Given the description of an element on the screen output the (x, y) to click on. 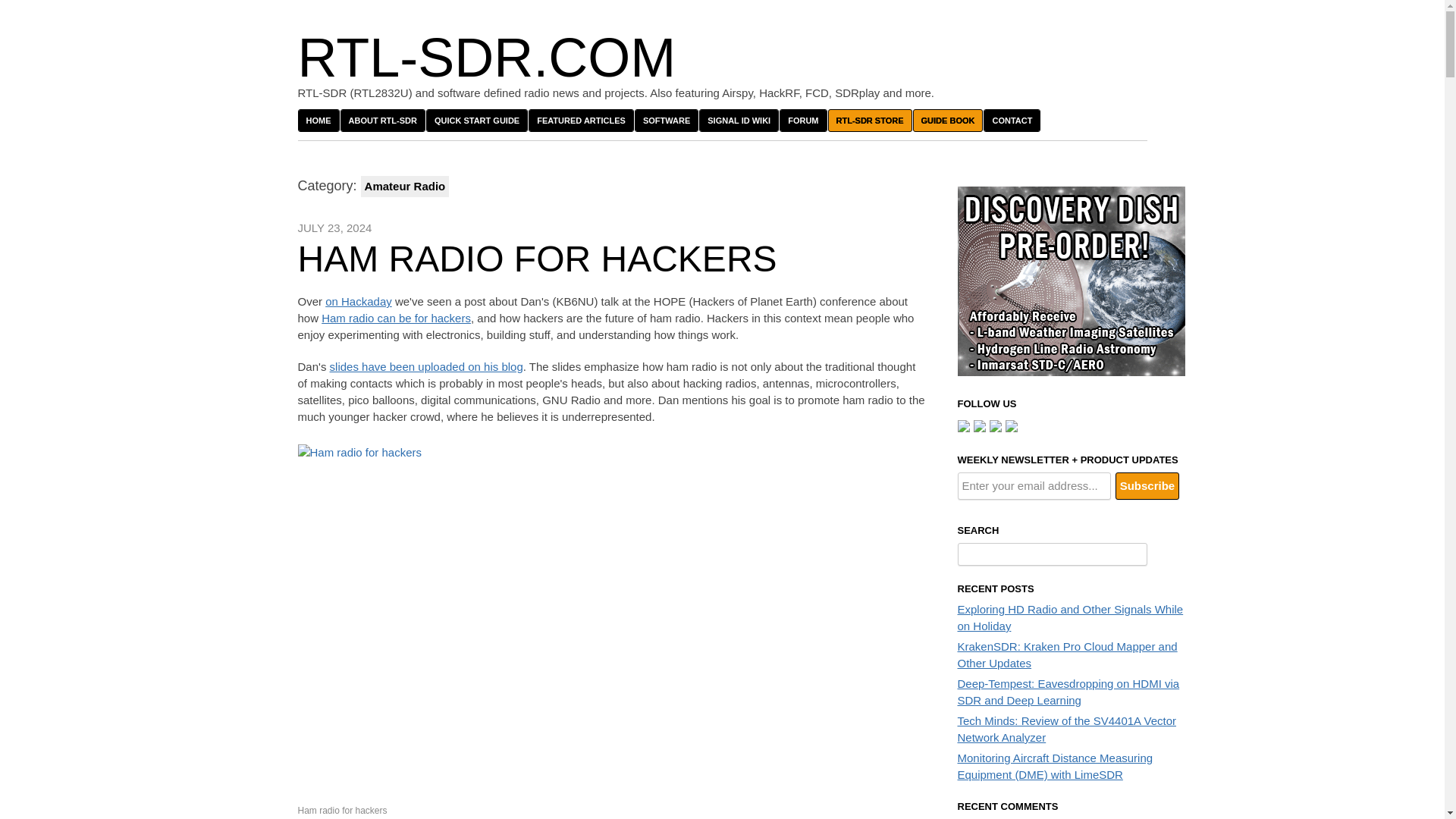
Subscribe (1147, 485)
rtl-sdr.com (486, 57)
ABOUT RTL-SDR (382, 119)
QUICK START GUIDE (476, 119)
RTL-SDR.COM (486, 57)
Enter your email address... (1032, 485)
FEATURED ARTICLES (580, 119)
HOME (318, 119)
Permalink to Ham Radio for Hackers (536, 259)
